Given the description of an element on the screen output the (x, y) to click on. 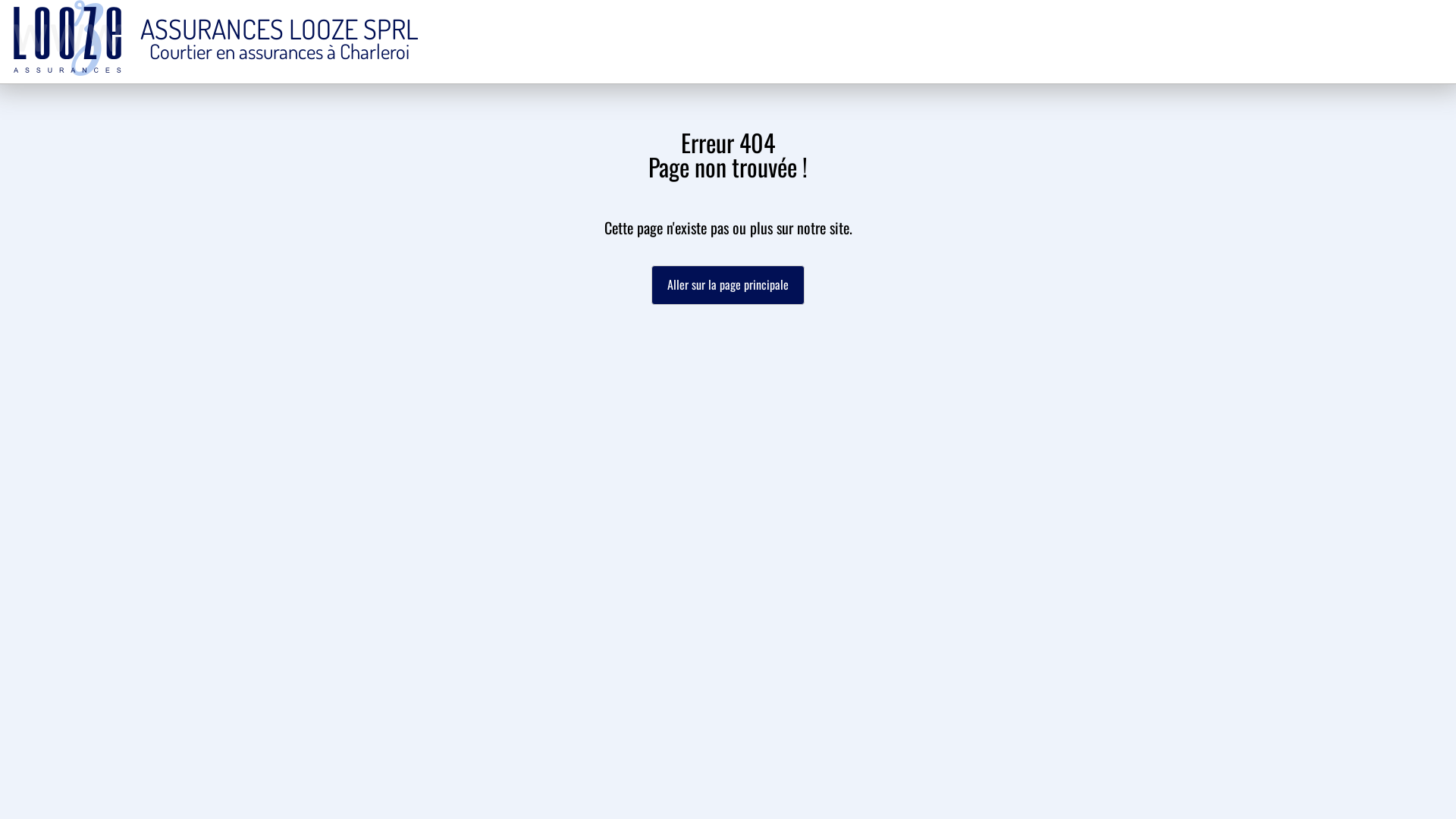
Aller sur la page principale Element type: text (727, 284)
